Given the description of an element on the screen output the (x, y) to click on. 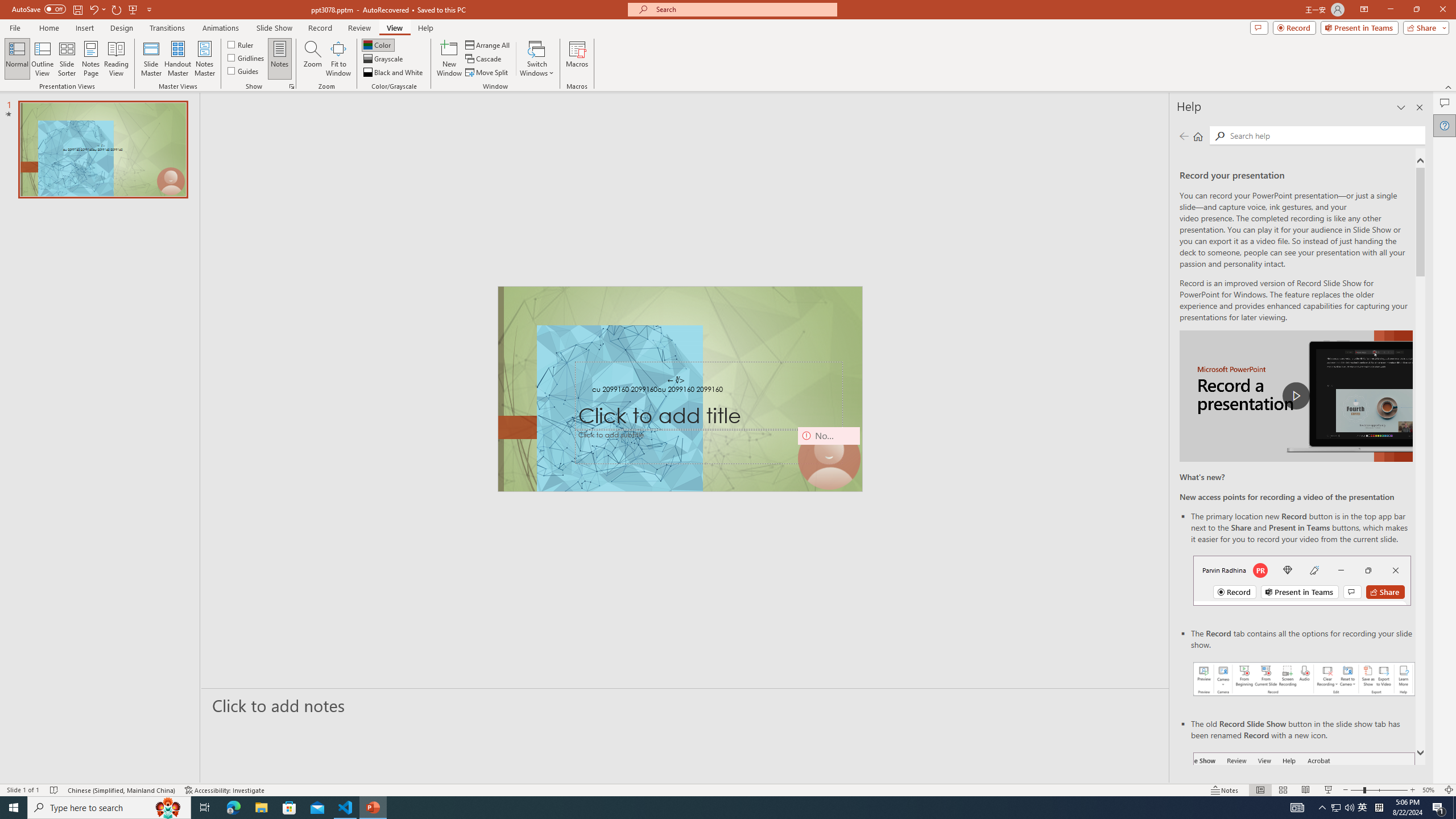
TextBox 7 (676, 380)
Outline View (42, 58)
Notes Master (204, 58)
Switch Windows (537, 58)
Slide Master (151, 58)
